Given the description of an element on the screen output the (x, y) to click on. 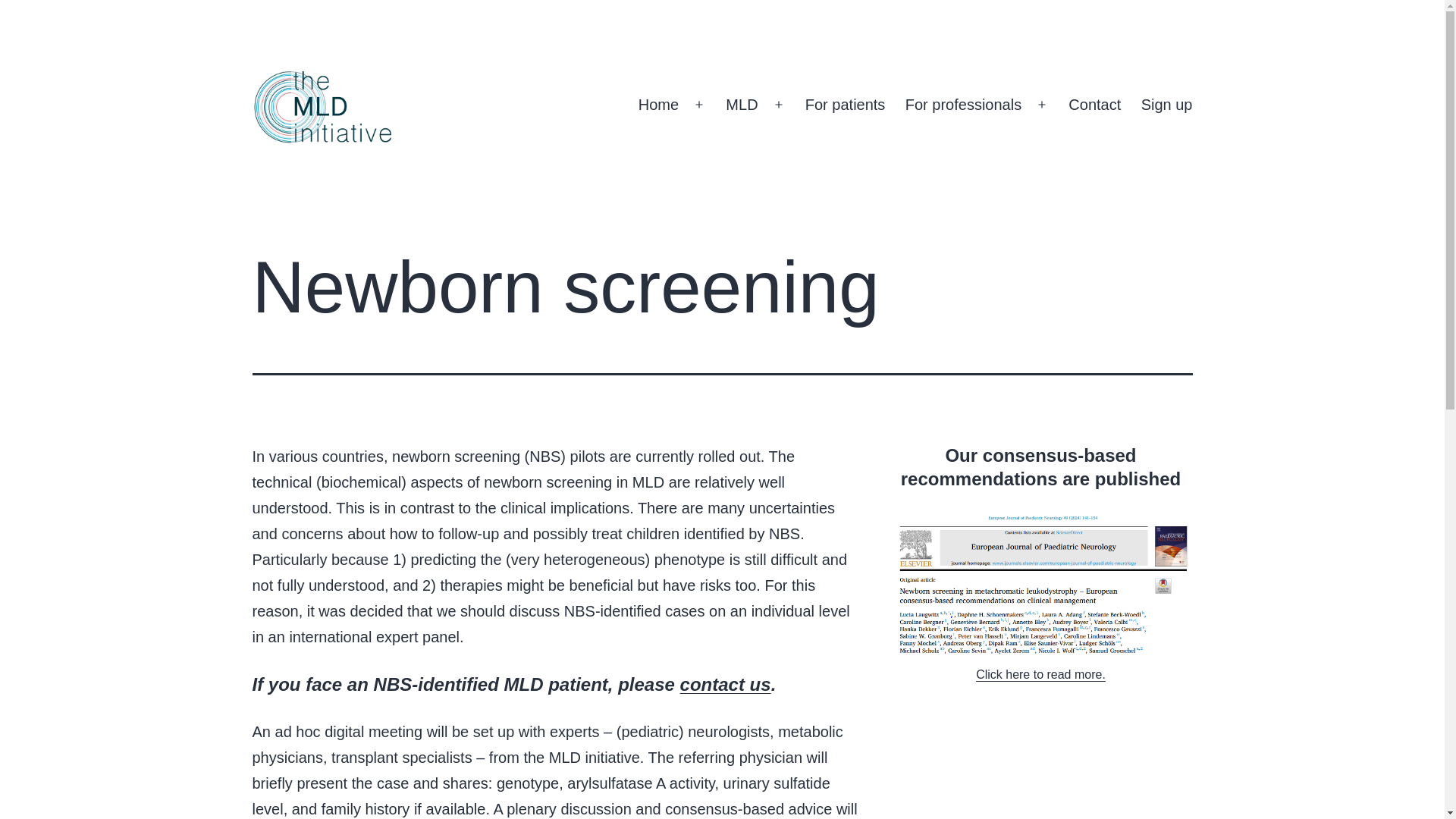
For professionals (963, 105)
Click here to read more. (1040, 674)
Contact (1094, 105)
Home (658, 105)
MLD (742, 105)
Sign up (1166, 105)
contact us (725, 684)
For patients (844, 105)
